Given the description of an element on the screen output the (x, y) to click on. 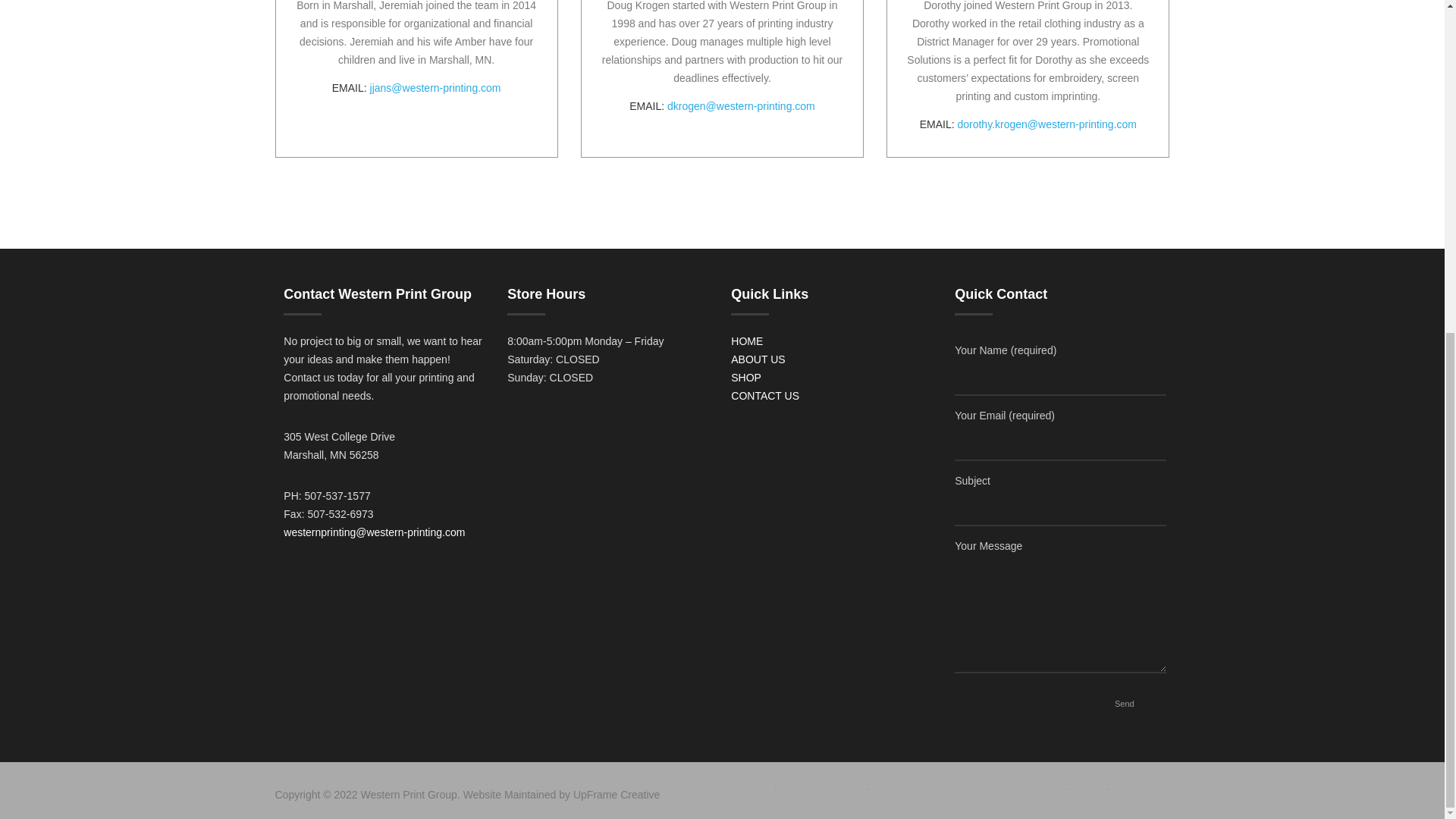
SHOP (745, 377)
Support Center (821, 786)
Contact (1134, 786)
Send (1123, 704)
Terms of Service (918, 786)
CONTACT US (764, 395)
Send (1123, 704)
Shop (1086, 786)
ABOUT US (757, 358)
HOME (752, 786)
